Given the description of an element on the screen output the (x, y) to click on. 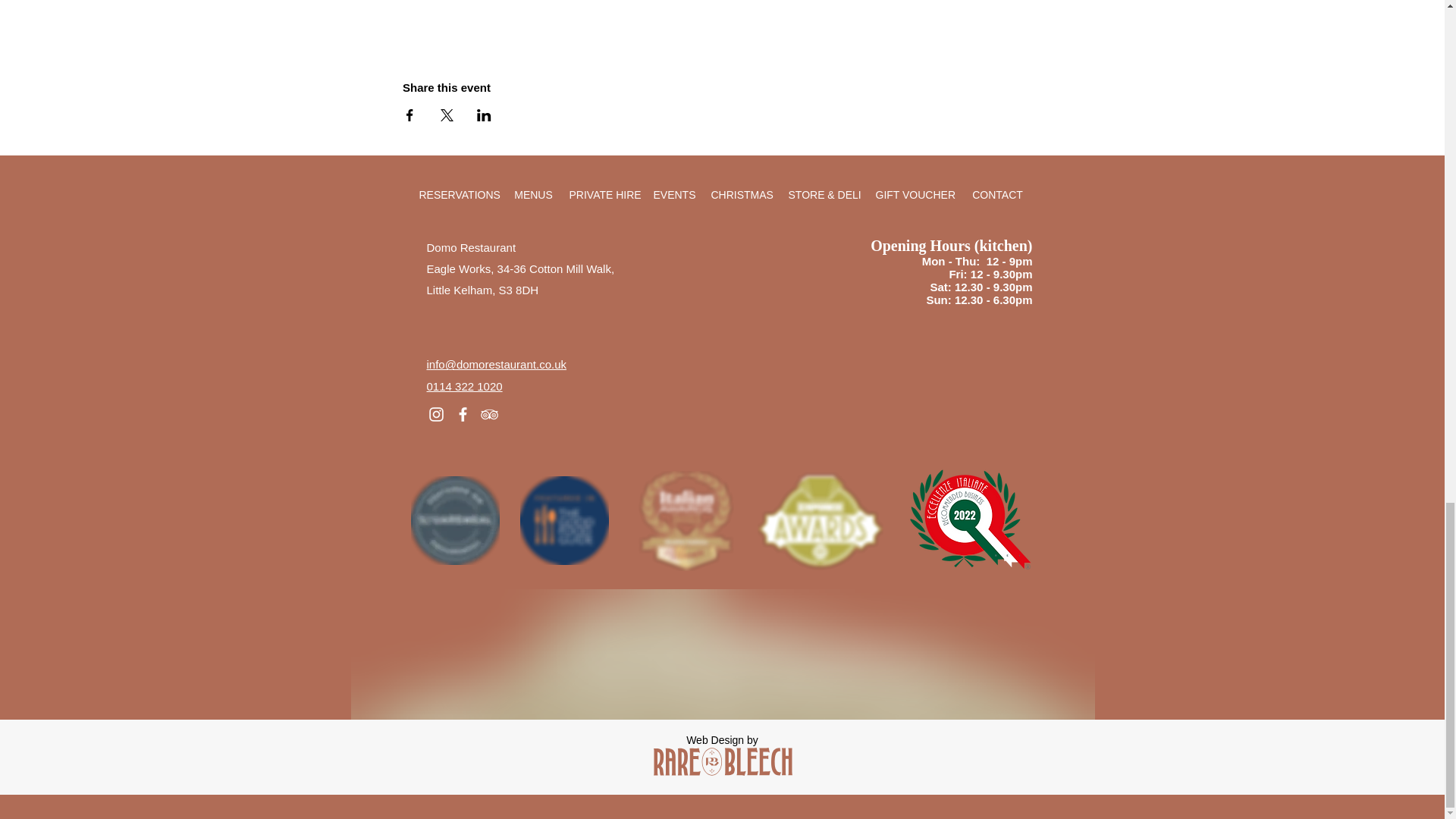
CONTACT (997, 194)
CHRISTMAS (741, 194)
EVENTS (674, 194)
GIFT VOUCHER (914, 194)
MENUS (532, 194)
RESERVATIONS (457, 194)
PRIVATE HIRE (602, 194)
0114 322 1020 (464, 386)
Web Design by (721, 739)
